Given the description of an element on the screen output the (x, y) to click on. 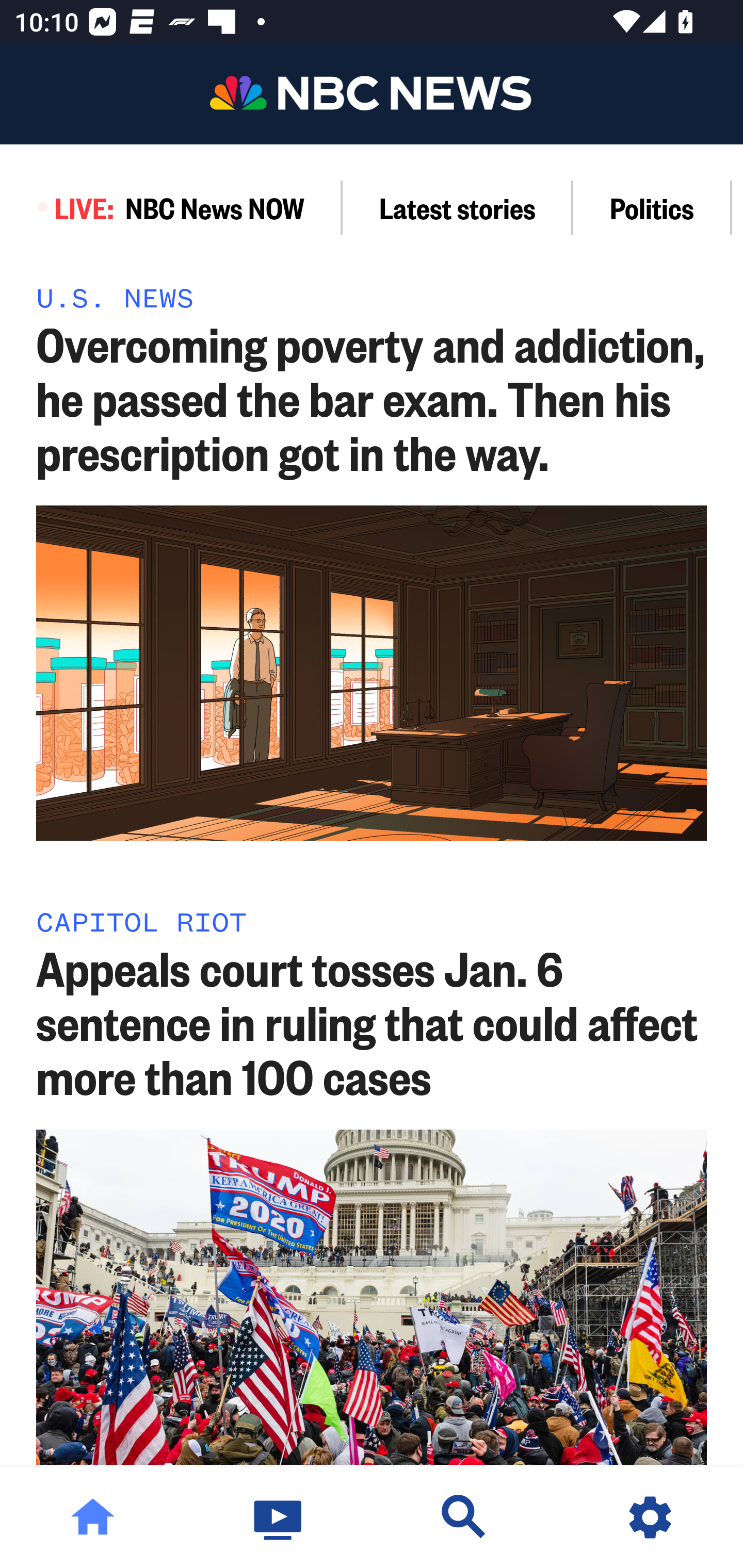
LIVE:  NBC News NOW (171, 207)
Latest stories Section,Latest stories (457, 207)
Politics Section,Politics (652, 207)
Watch (278, 1517)
Discover (464, 1517)
Settings (650, 1517)
